Given the description of an element on the screen output the (x, y) to click on. 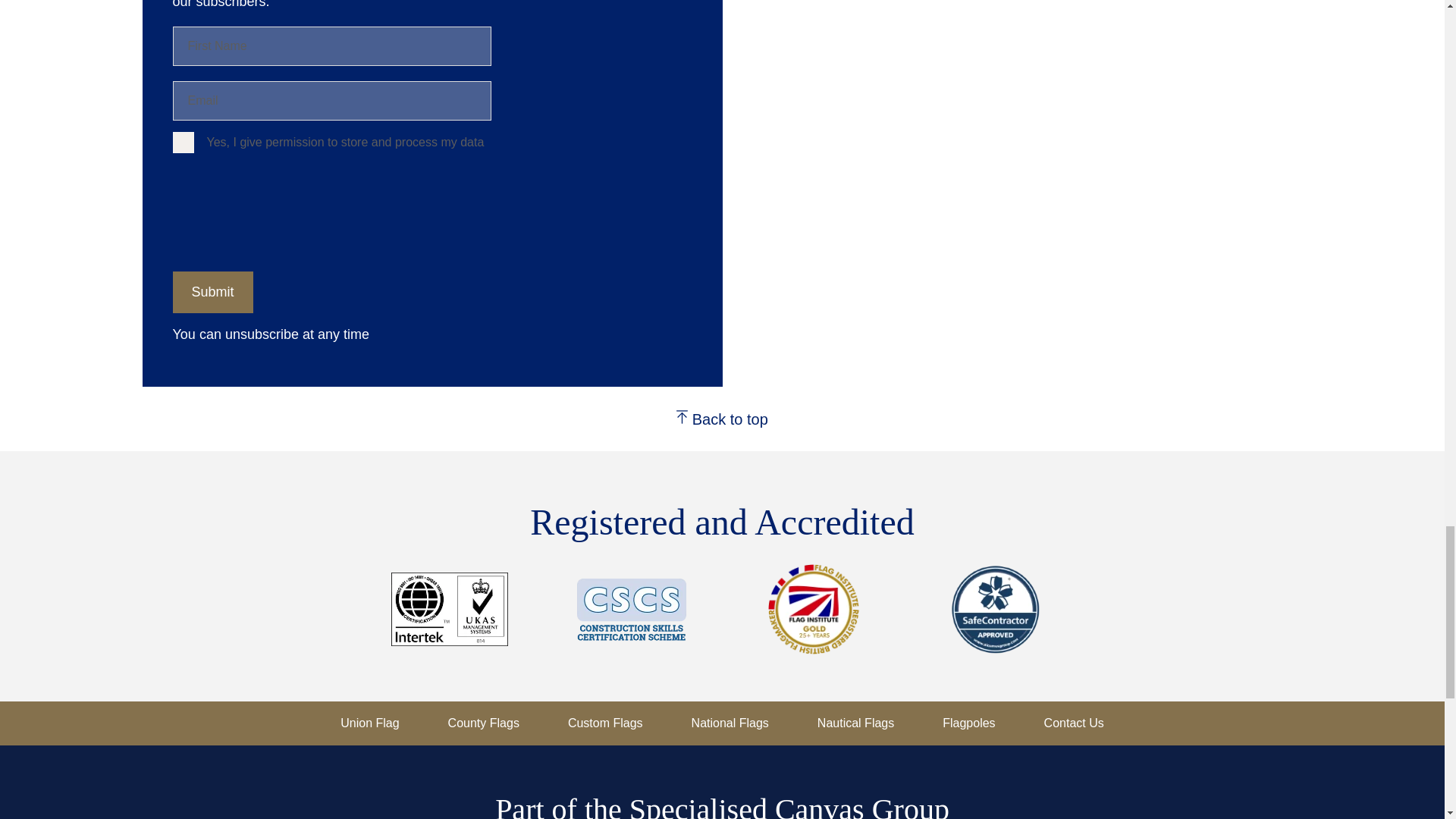
Flagpoles (968, 723)
Submit (213, 291)
County Flags (483, 723)
Back to top (722, 418)
National Flags (729, 723)
Contact Us (1073, 723)
Custom Flags (605, 723)
Submit (213, 291)
Nautical Flags (854, 723)
Union Flag (369, 723)
